Given the description of an element on the screen output the (x, y) to click on. 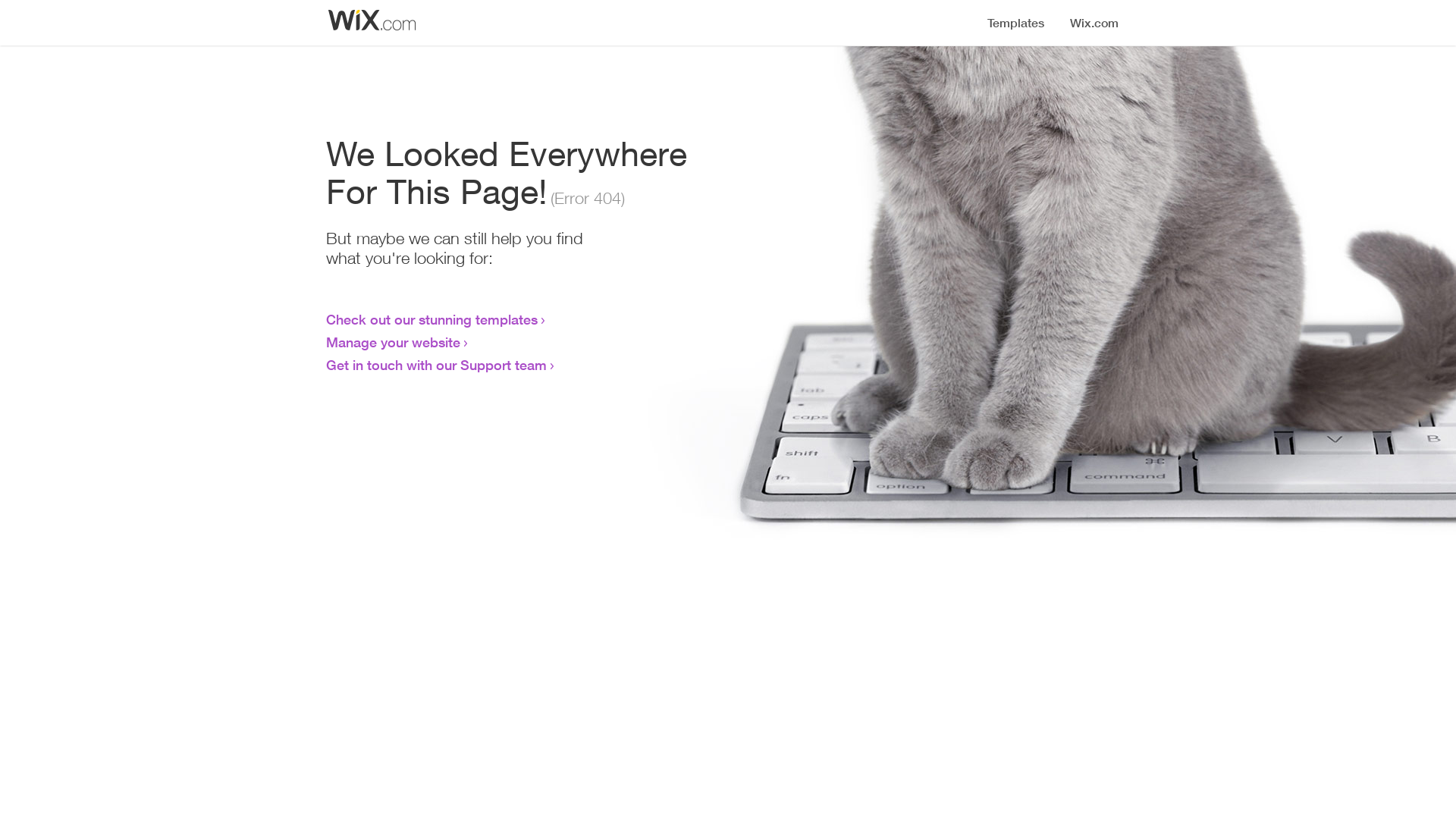
Check out our stunning templates Element type: text (431, 318)
Manage your website Element type: text (393, 341)
Get in touch with our Support team Element type: text (436, 364)
